Given the description of an element on the screen output the (x, y) to click on. 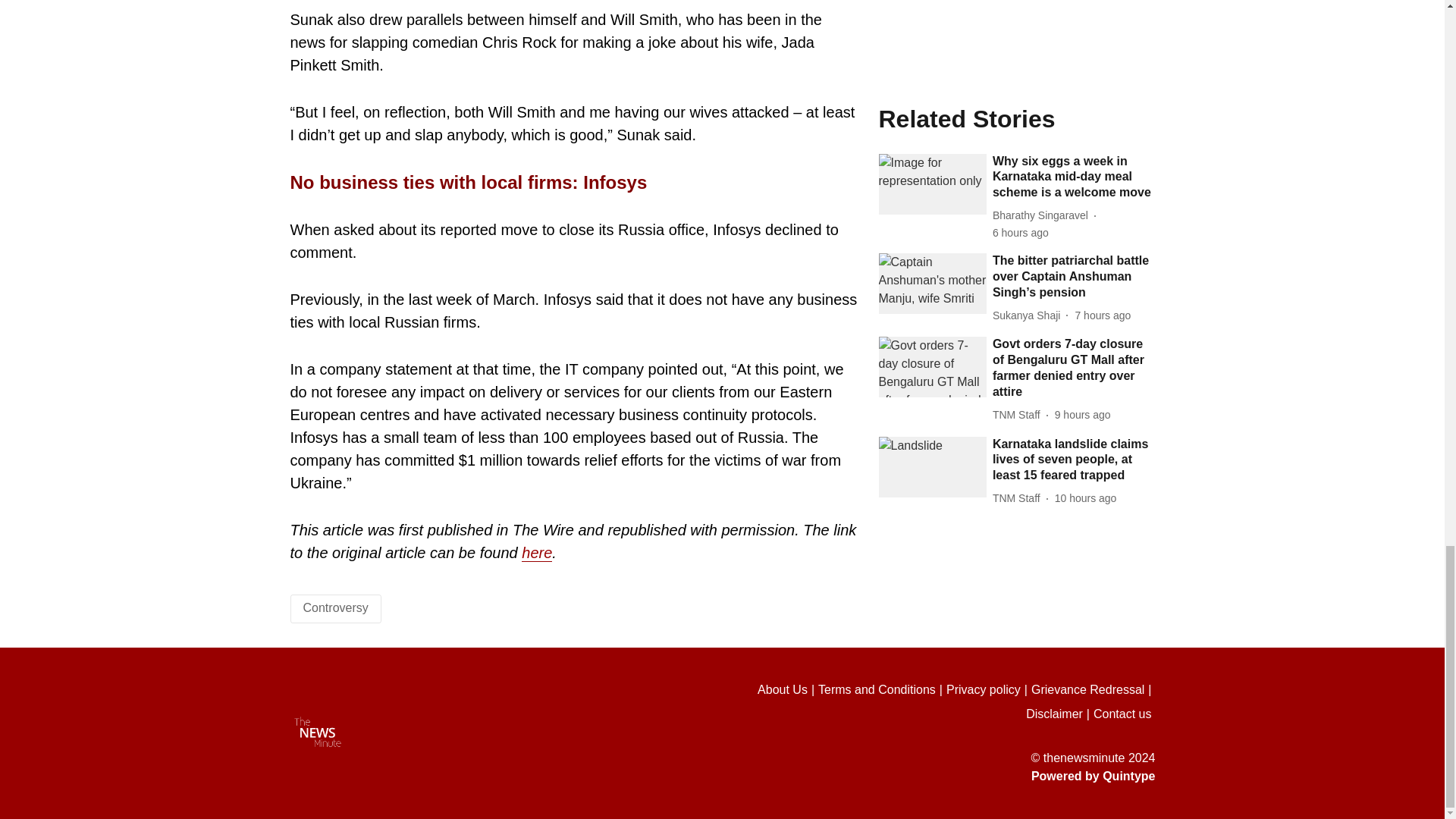
Controversy (335, 607)
here (536, 552)
